Given the description of an element on the screen output the (x, y) to click on. 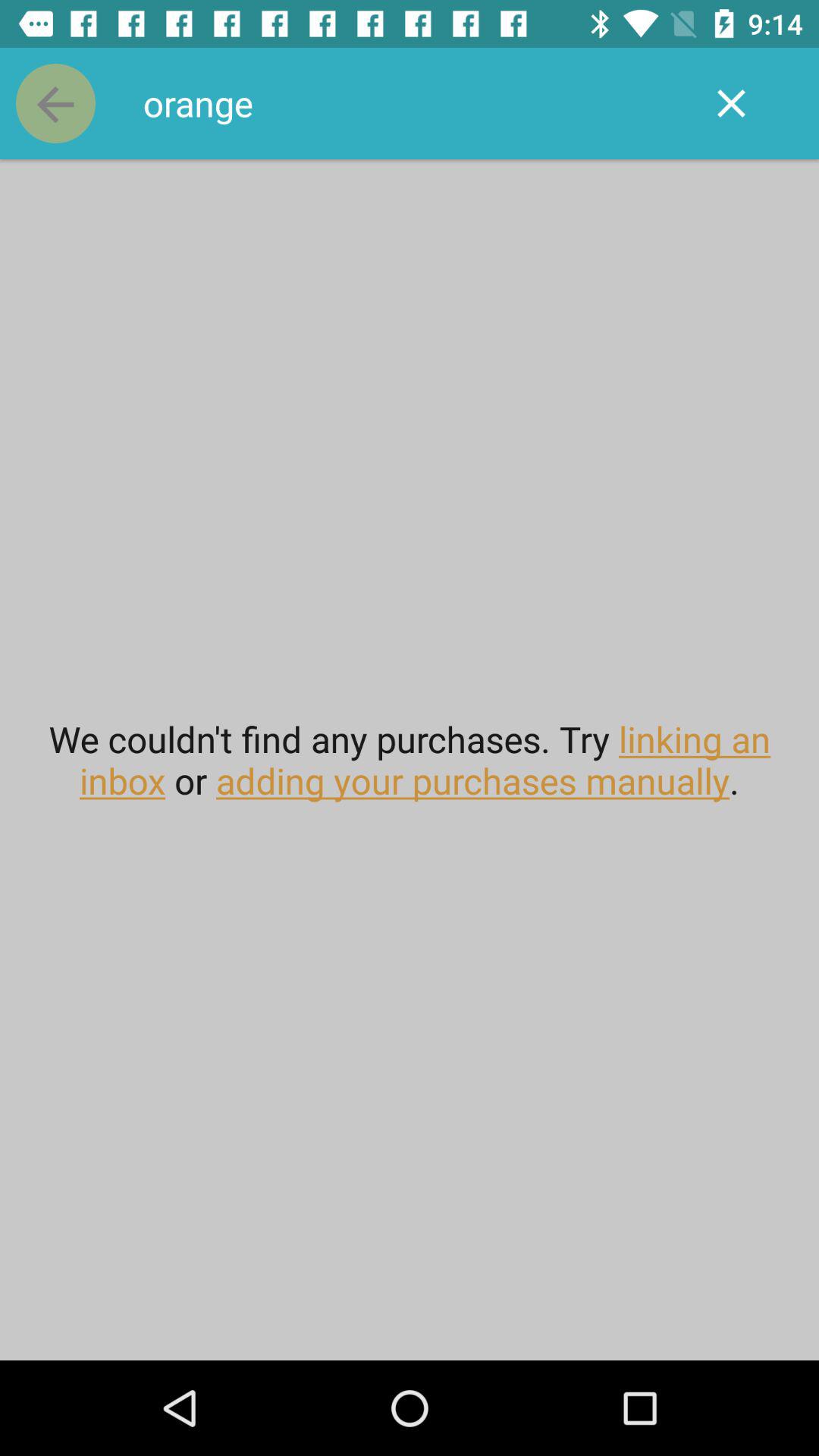
launch the item above we couldn t (55, 103)
